Given the description of an element on the screen output the (x, y) to click on. 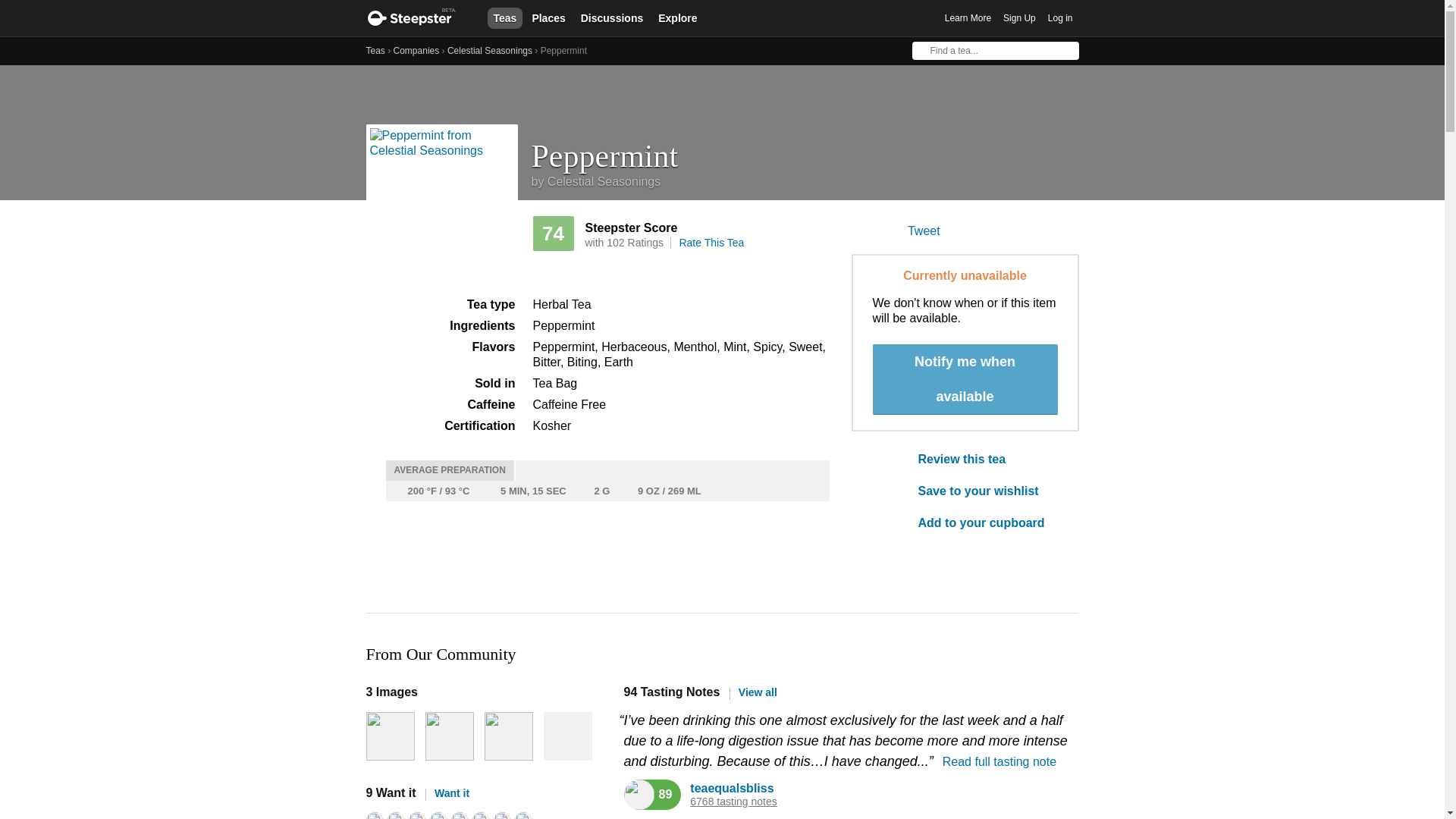
Notify me when available (964, 378)
Steepster (418, 18)
Explore (677, 17)
Herbal Tea (561, 304)
Log in (1060, 18)
Add to your cupboard (986, 522)
Places (547, 17)
Celestial Seasonings (489, 50)
Peppermint (804, 150)
Learn More (968, 18)
Review this tea (986, 458)
Want it (446, 793)
Sign Up (1019, 18)
Rate This Tea (711, 242)
Teas (504, 17)
